Given the description of an element on the screen output the (x, y) to click on. 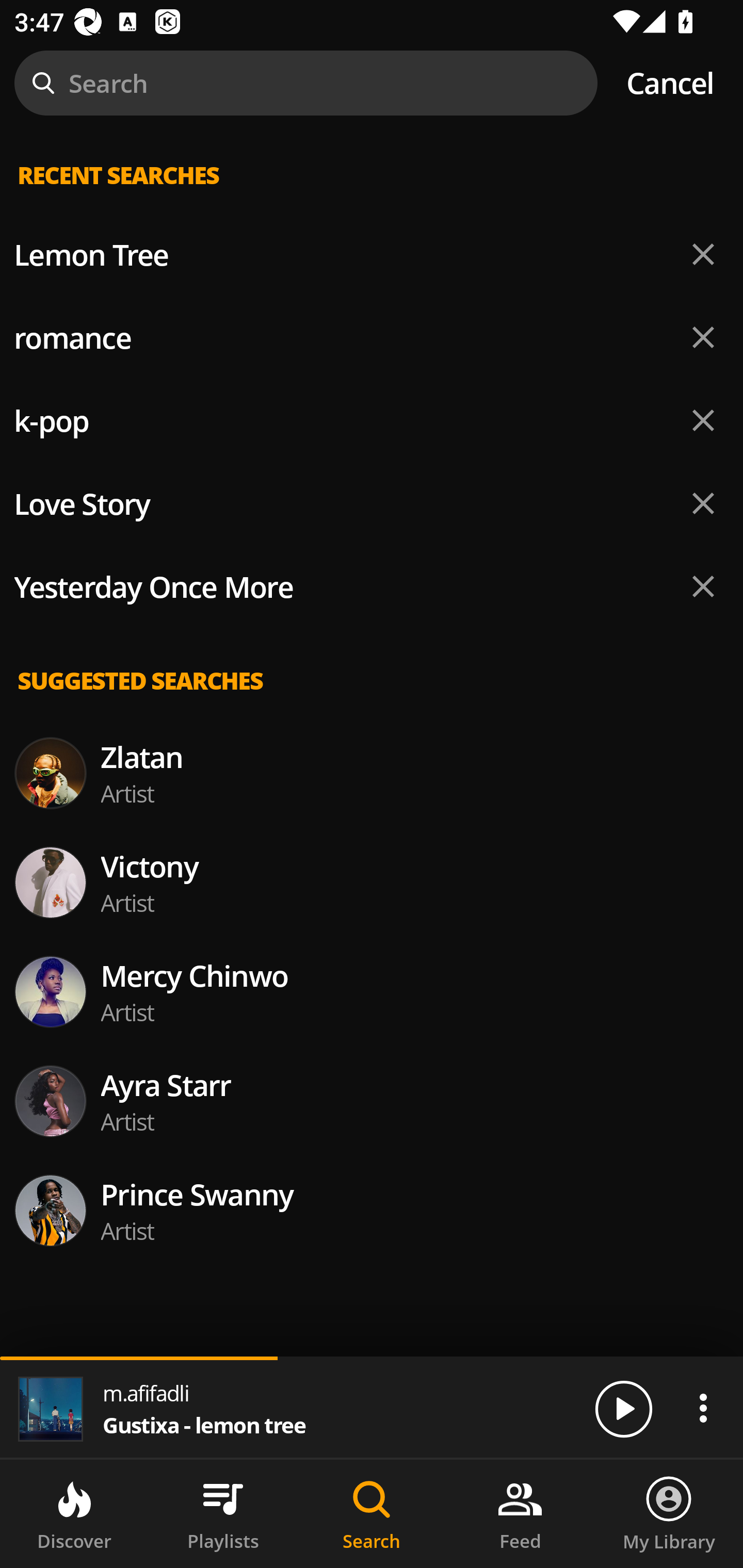
Search Cancel (371, 82)
Cancel (670, 82)
Artists, songs, albums and playlists… (371, 191)
Lemon Tree Delete (371, 254)
Delete (703, 254)
romance Delete (371, 337)
Delete (703, 336)
k-pop Delete (371, 420)
Delete (703, 420)
Love Story Delete (371, 503)
Delete (703, 503)
Yesterday Once More Delete (371, 586)
Delete (703, 586)
Zlatan Artist (371, 772)
Victony Artist (371, 882)
Mercy Chinwo Artist (371, 991)
Ayra Starr Artist (371, 1100)
Prince Swanny Artist (371, 1210)
Play/Pause (623, 1408)
Discover (74, 1513)
Playlists (222, 1513)
Search (371, 1513)
Feed (519, 1513)
My Library (668, 1513)
